Given the description of an element on the screen output the (x, y) to click on. 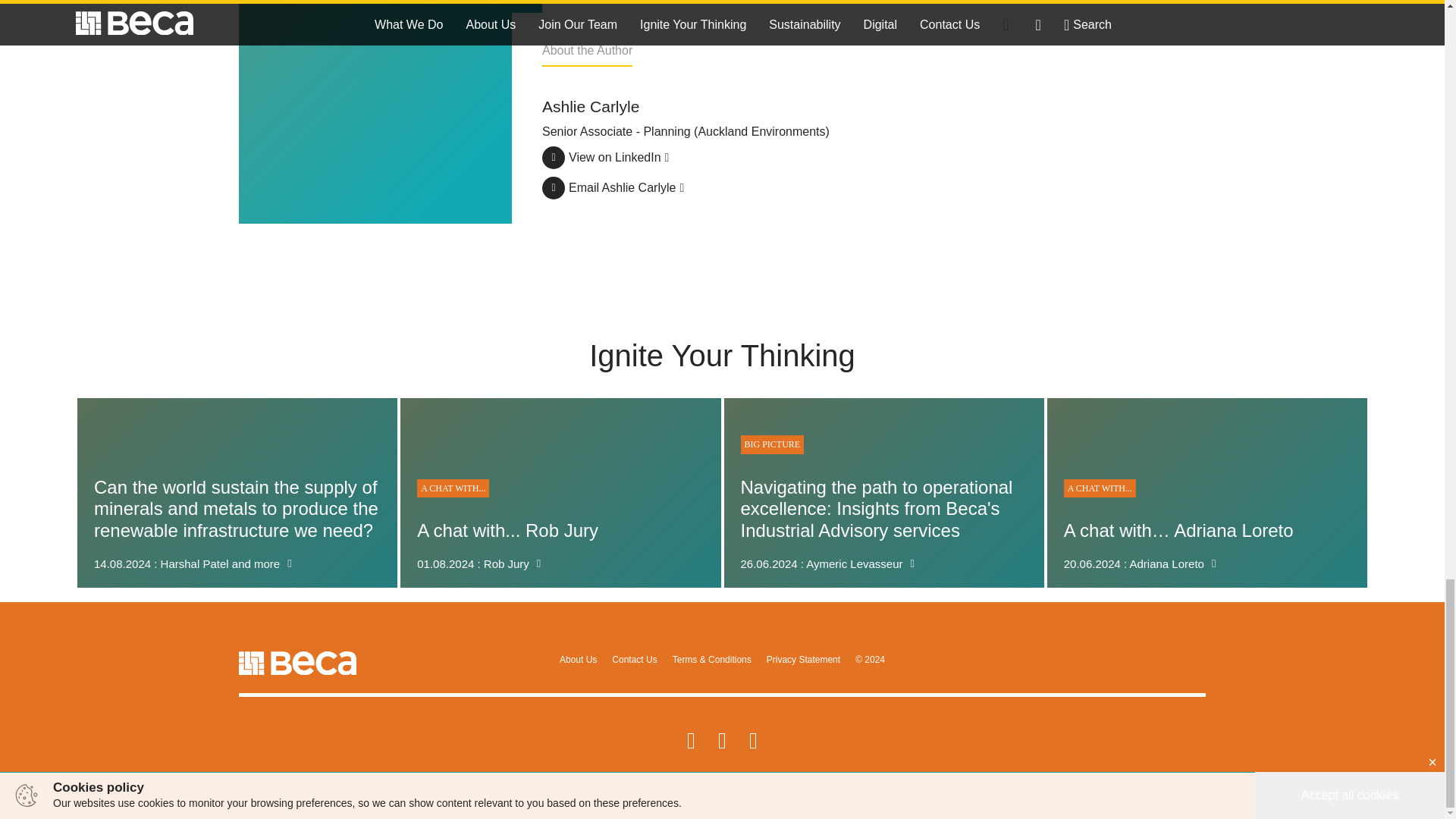
Privacy Statement (560, 493)
View on LinkedIn (802, 659)
Contact Us (604, 153)
Email Ashlie Carlyle (633, 659)
About Us (612, 183)
